Given the description of an element on the screen output the (x, y) to click on. 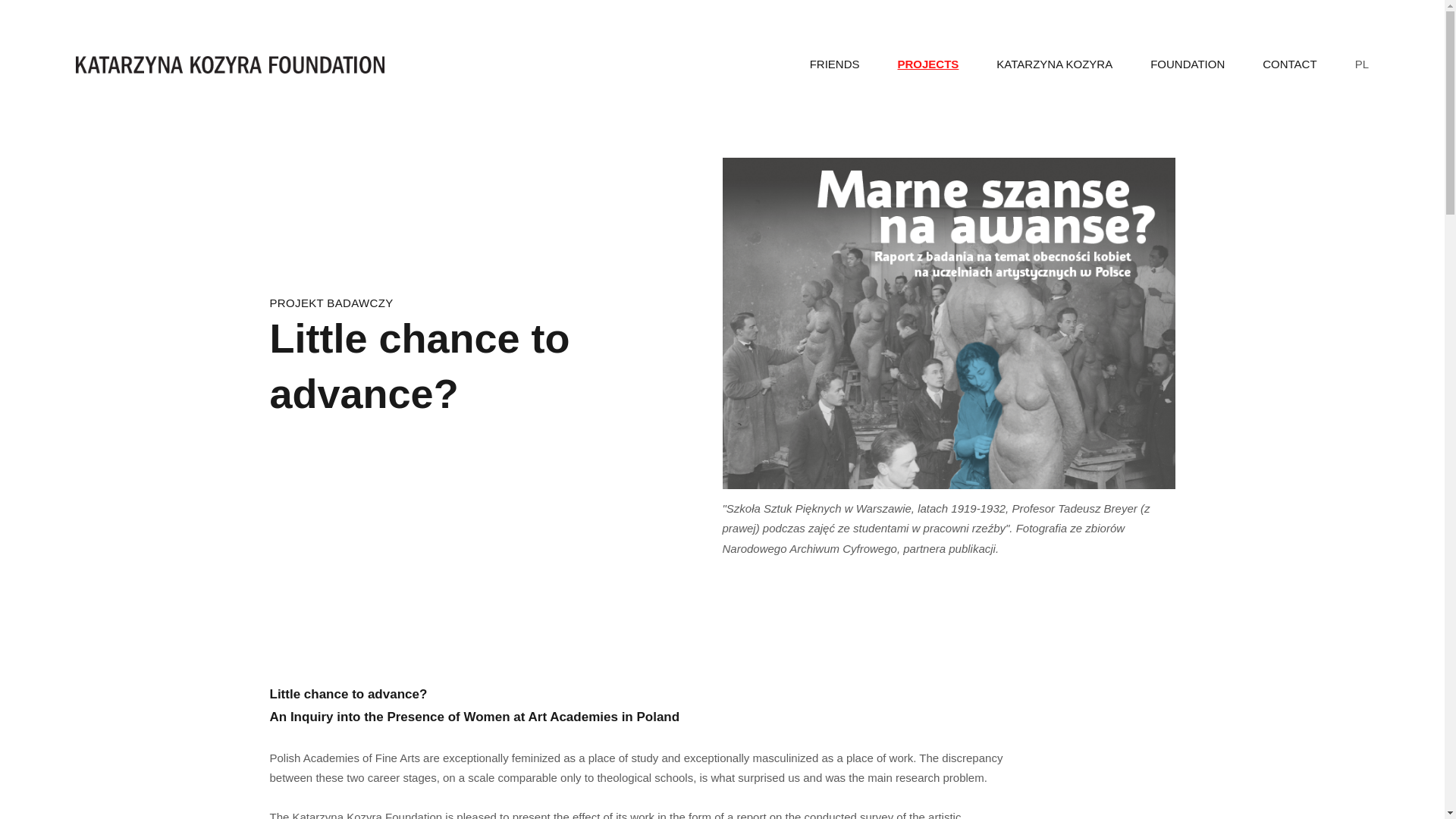
CONTACT (1289, 63)
KATARZYNA KOZYRA (1053, 63)
PROJECTS (928, 63)
FOUNDATION (1187, 63)
Fundacja Katarzyny Kozyry (229, 64)
FRIENDS (834, 63)
